Given the description of an element on the screen output the (x, y) to click on. 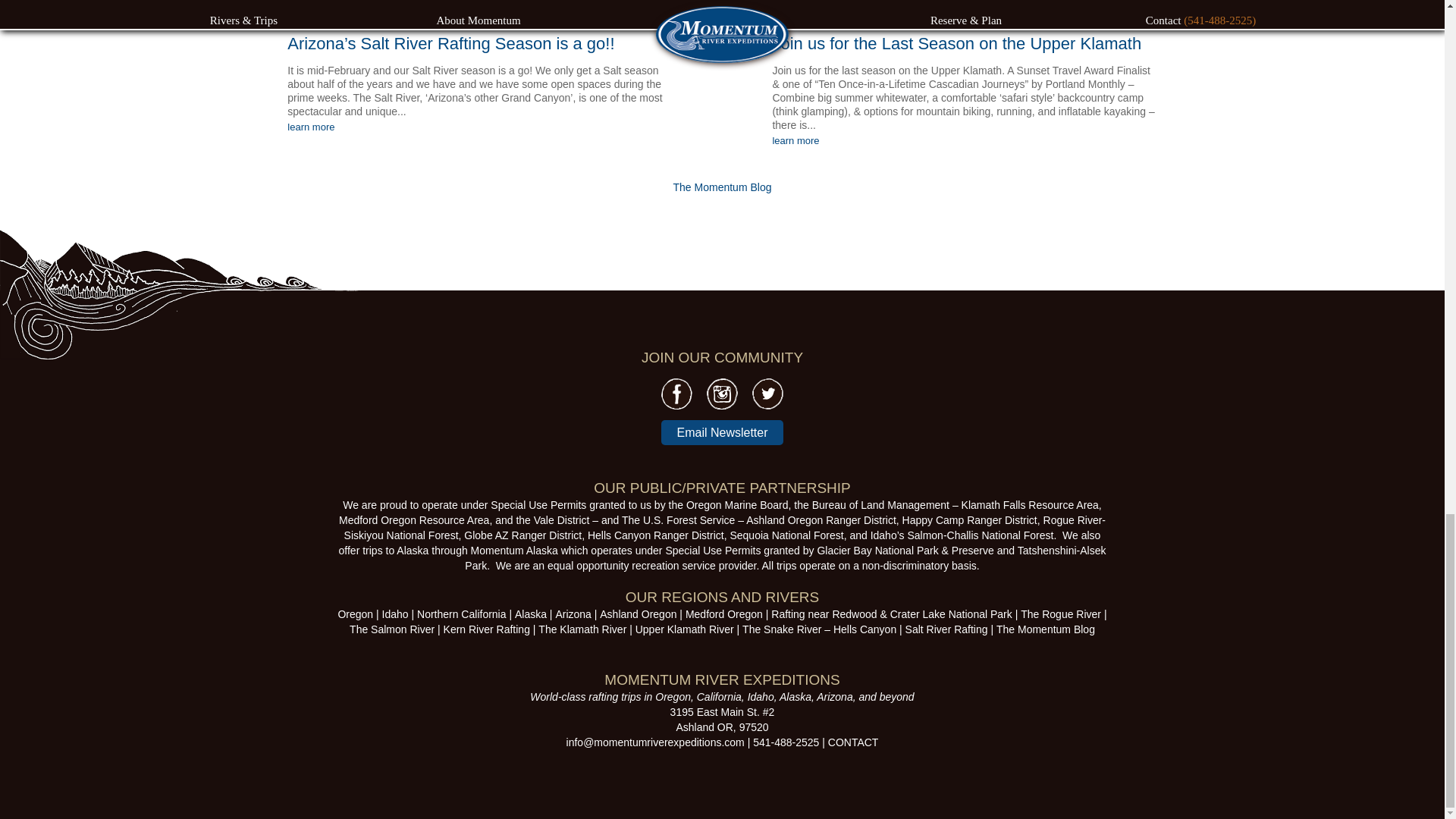
twitter-icon (767, 393)
instagram-icon (722, 393)
facebook-c (676, 393)
